Given the description of an element on the screen output the (x, y) to click on. 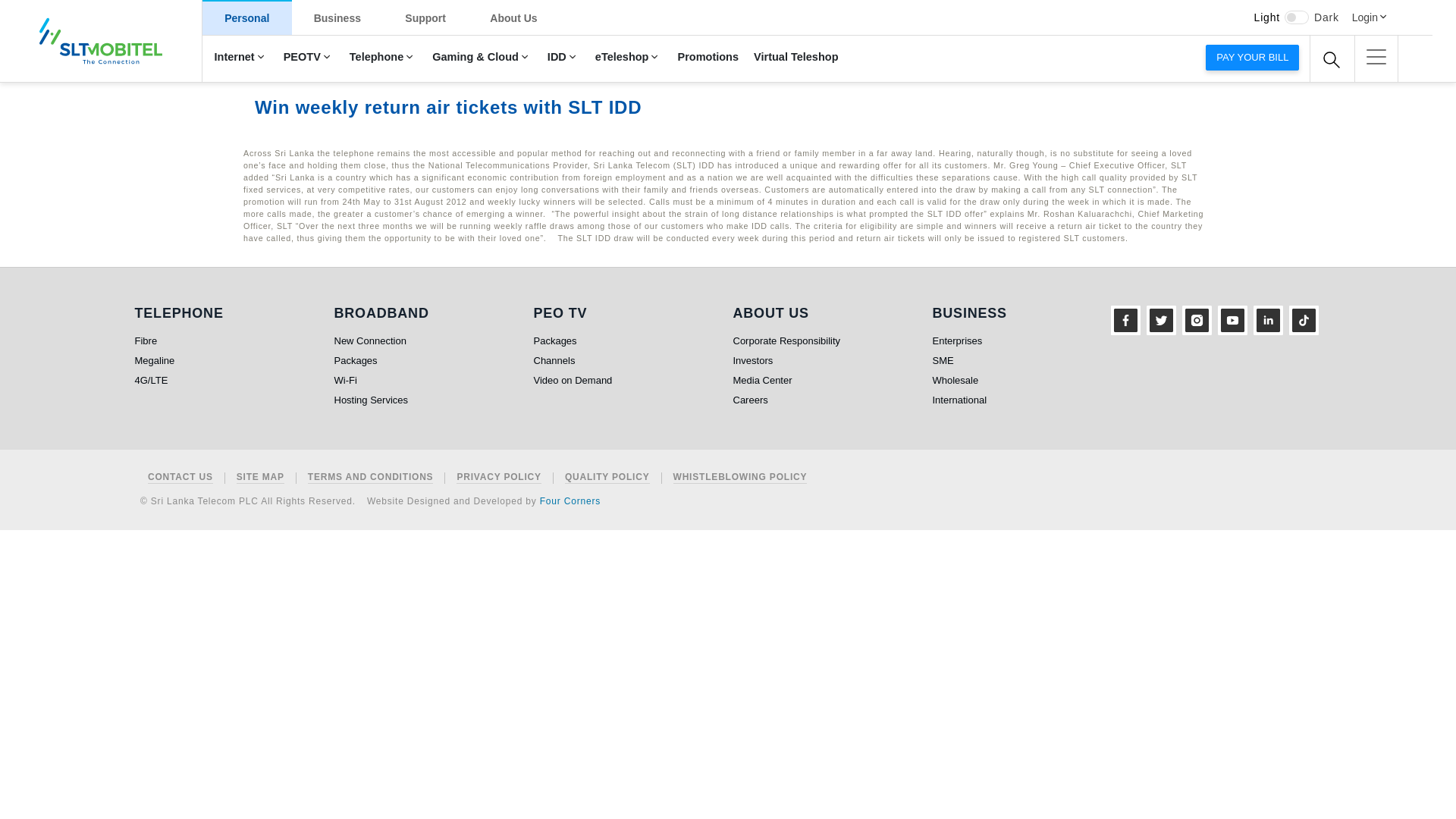
Internet (240, 57)
on (1296, 17)
Personal (247, 17)
SLT Quality Policy (606, 477)
